Given the description of an element on the screen output the (x, y) to click on. 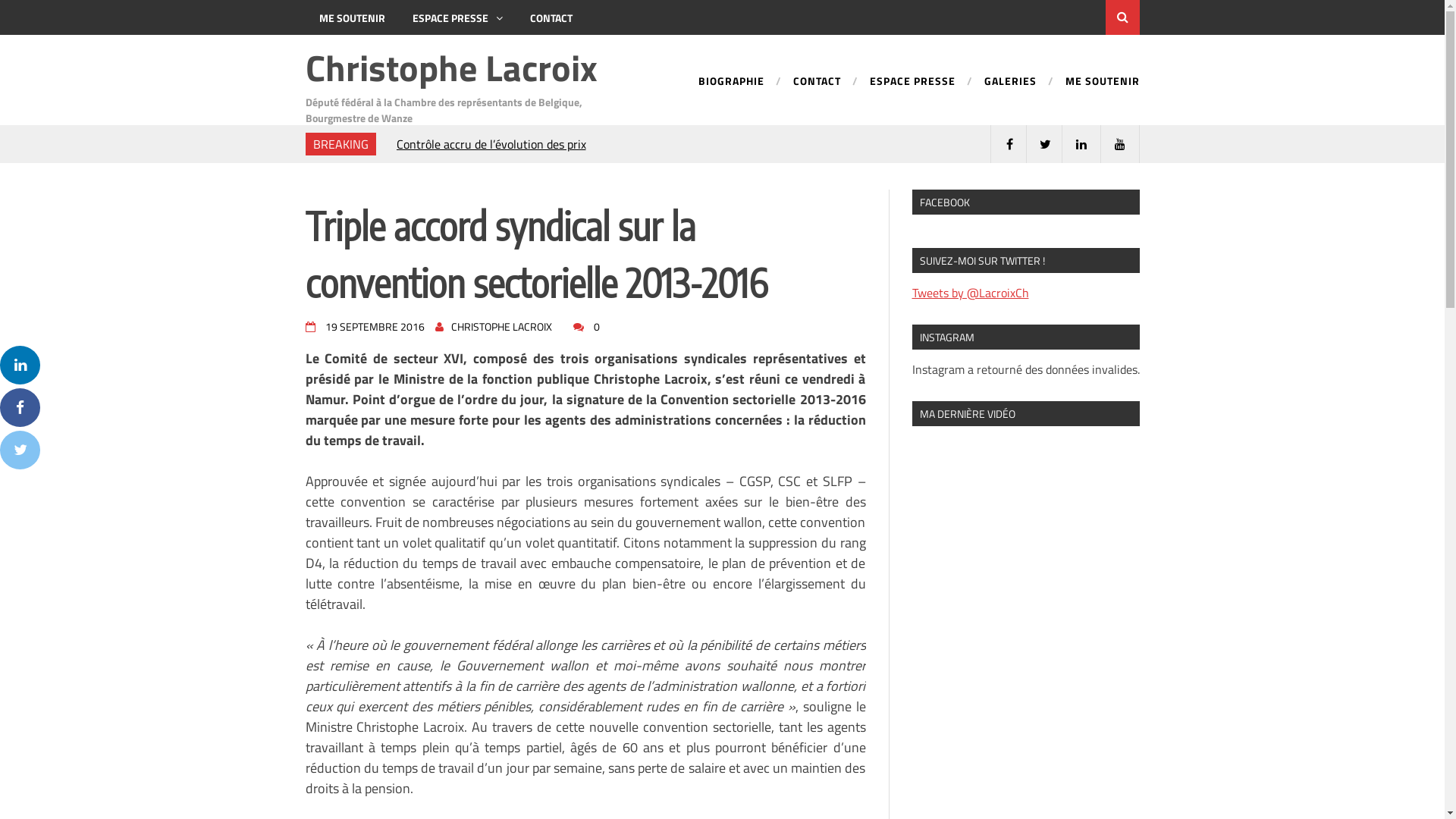
GALERIES Element type: text (995, 87)
ESPACE PRESSE Element type: text (457, 17)
ME SOUTENIR Element type: text (1087, 87)
19 SEPTEMBRE 2016 Element type: text (369, 326)
ME SOUTENIR Element type: text (351, 17)
Facebook Element type: hover (20, 407)
CONTACT Element type: text (550, 17)
CHRISTOPHE LACROIX Element type: text (501, 326)
BIOGRAPHIE Element type: text (725, 87)
Christophe Lacroix Element type: text (450, 67)
Tweets by @LacroixCh Element type: text (969, 292)
Linkedin Element type: hover (20, 364)
ESPACE PRESSE Element type: text (897, 87)
0 Element type: text (592, 326)
Twitter Element type: hover (20, 449)
CONTACT Element type: text (802, 87)
